Given the description of an element on the screen output the (x, y) to click on. 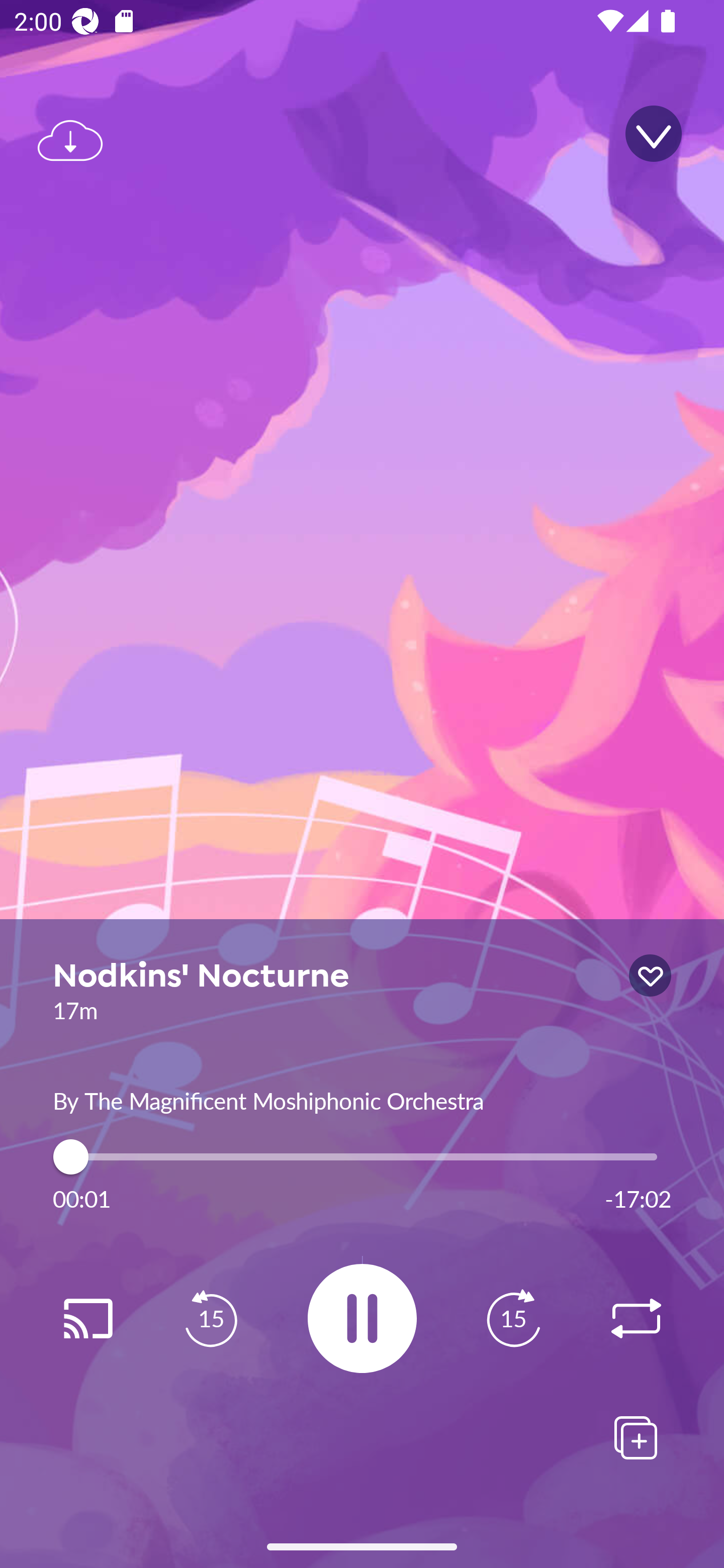
lock icon (650, 974)
By The Magnificent Moshiphonic Orchestra (361, 1098)
9.863281E-4 Pause (361, 1317)
Replay (87, 1318)
Replay 15 (210, 1318)
Replay 15 (513, 1318)
Replay (635, 1318)
Add To Playlists (635, 1437)
